Given the description of an element on the screen output the (x, y) to click on. 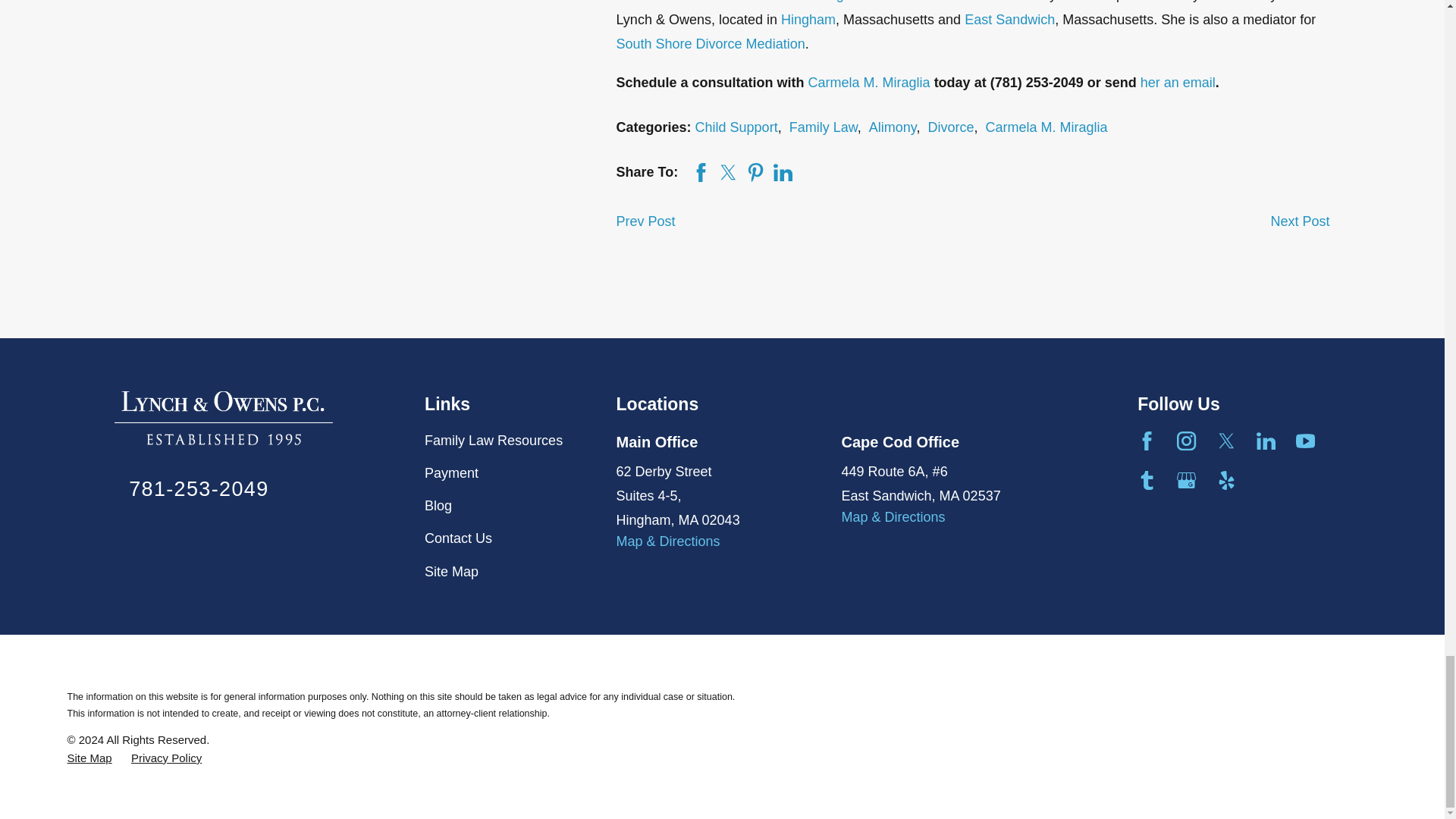
Home (224, 418)
